Given the description of an element on the screen output the (x, y) to click on. 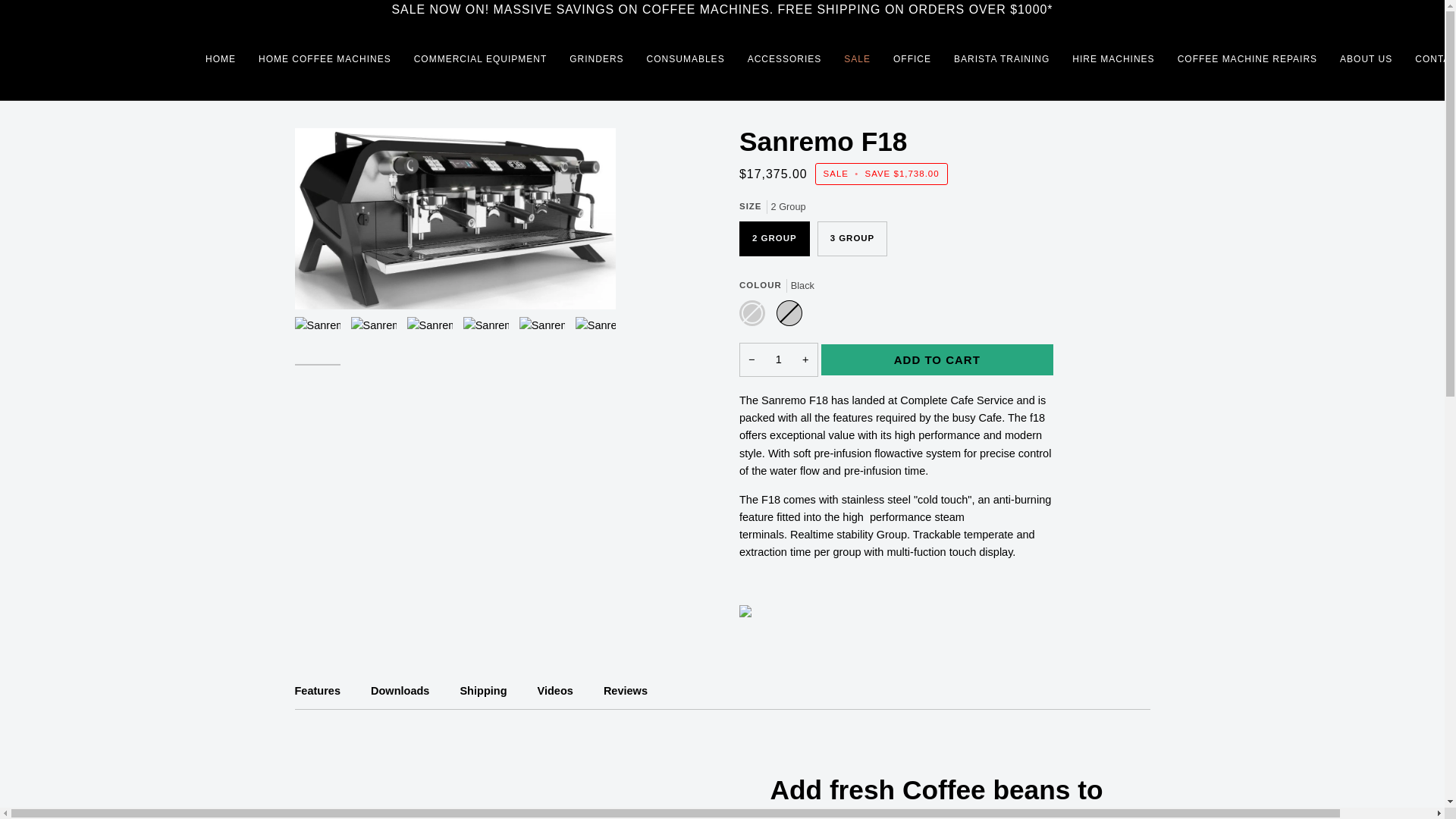
CONSUMABLES (685, 58)
1 (778, 359)
GRINDERS (595, 58)
HOME COFFEE MACHINES (325, 58)
COMMERCIAL EQUIPMENT (481, 58)
